Given the description of an element on the screen output the (x, y) to click on. 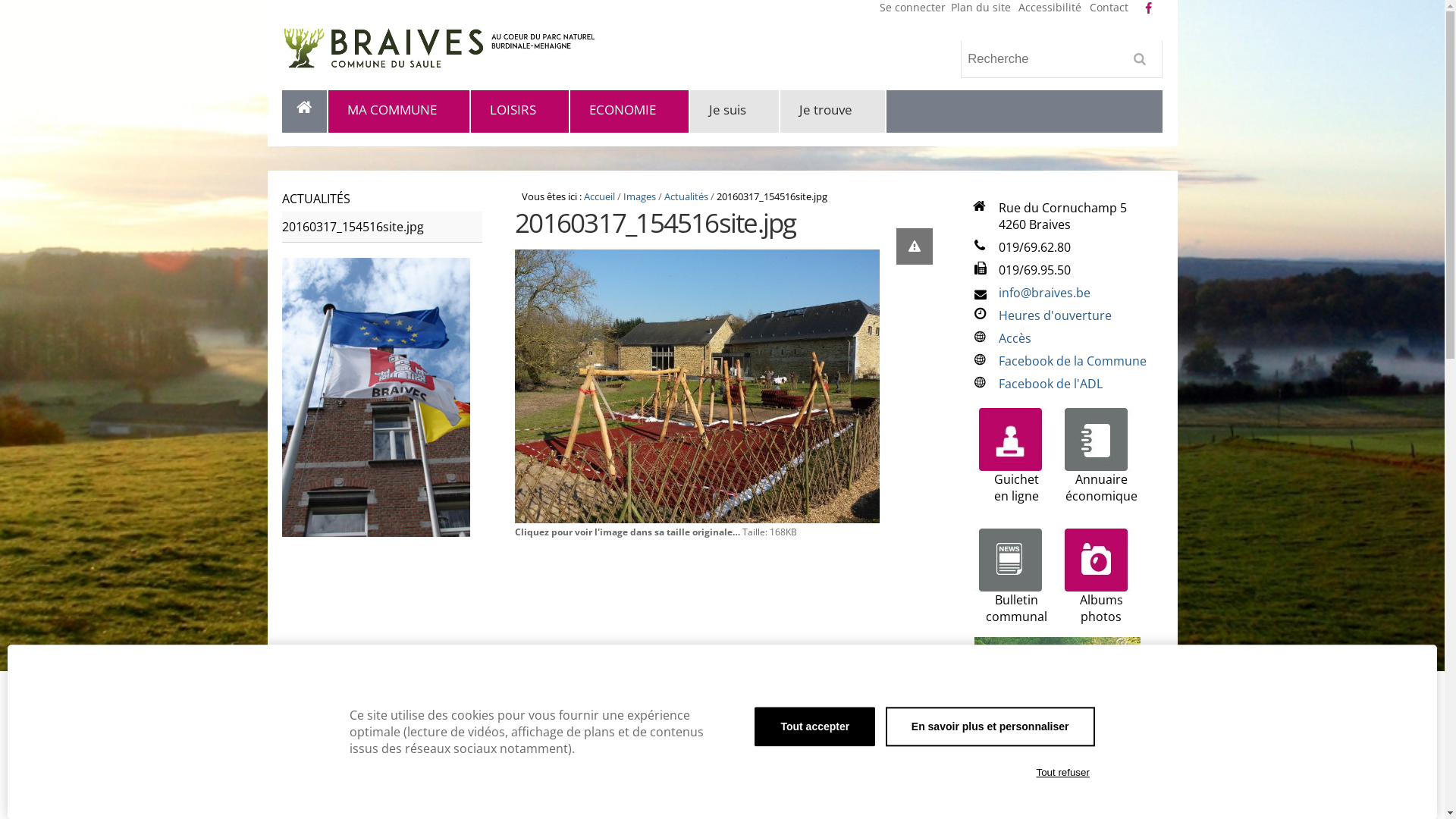
Accueil Element type: text (599, 196)
Site de Braives Element type: hover (471, 48)
En savoir plus et personnaliser Element type: text (990, 726)
Facebook de la Commune Element type: text (1072, 360)
Rechercher Element type: text (1143, 64)
tourisme Element type: hover (1057, 720)
guichet Element type: hover (1010, 438)
Je trouve Element type: text (833, 111)
Tout refuser Element type: text (1063, 772)
Heures d'ouverture Element type: text (1054, 315)
https://www.facebook.com/ACBraives Element type: hover (1147, 8)
Tout accepter Element type: text (814, 726)
news Element type: hover (1009, 559)
MA COMMUNE Element type: text (399, 111)
annuaire Element type: hover (1095, 438)
Images Element type: text (639, 196)
Contact Element type: text (1108, 7)
Se connecter Element type: text (912, 7)
20160317_154516site.jpg Element type: text (382, 226)
albums Element type: hover (1095, 559)
Plan du site Element type: text (980, 7)
ECONOMIE Element type: text (630, 111)
Aller au contenu. Element type: text (307, 112)
Je suis Element type: text (735, 111)
Facebook de l'ADL Element type: text (1050, 383)
info@braives.be Element type: text (1044, 292)
LOISIRS Element type: text (520, 111)
20160317_154516site.jpg Element type: hover (696, 386)
Recherche Element type: hover (1061, 59)
